Given the description of an element on the screen output the (x, y) to click on. 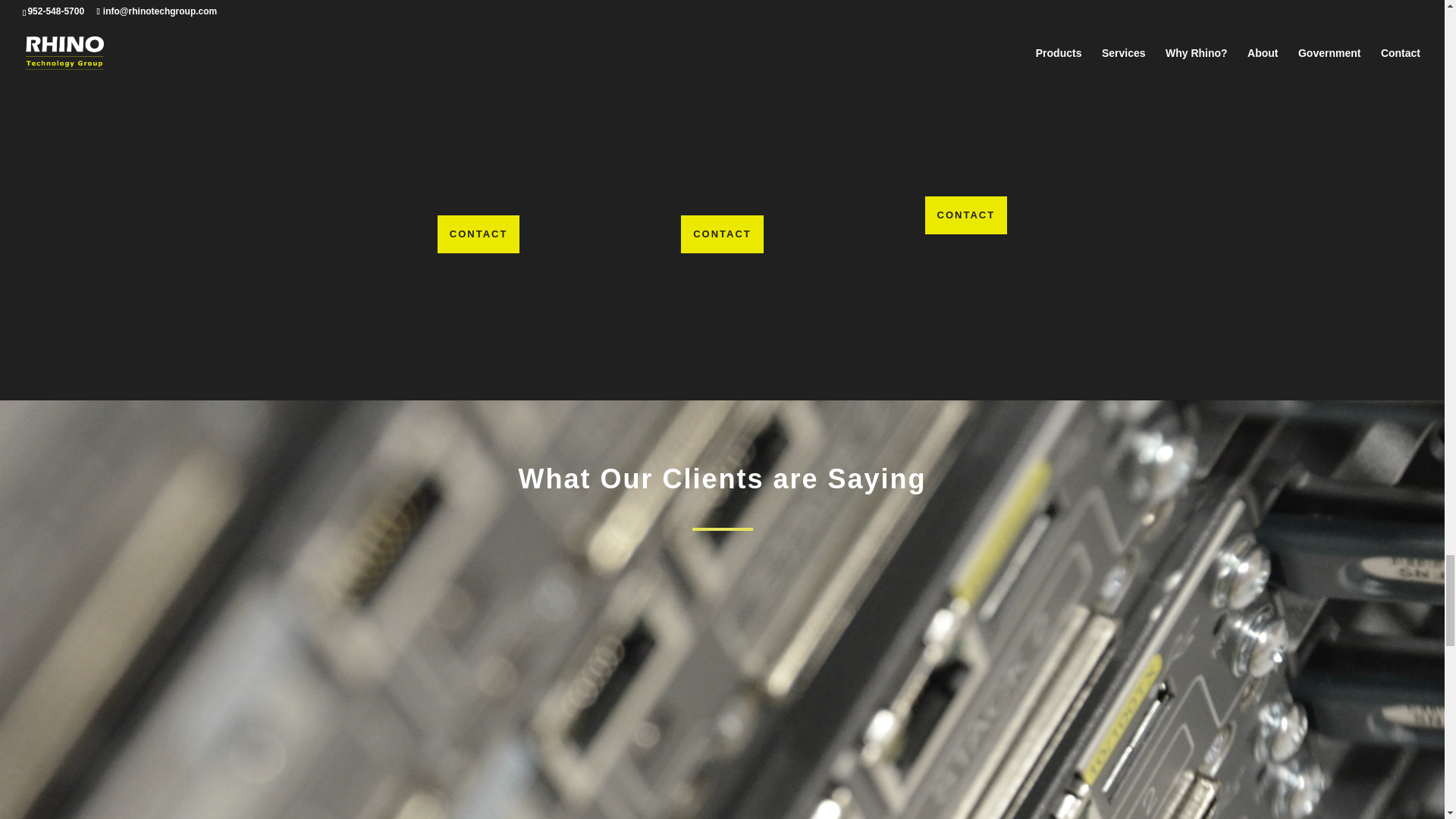
CONTACT (721, 234)
CONTACT (478, 234)
CONTACT (965, 215)
